Given the description of an element on the screen output the (x, y) to click on. 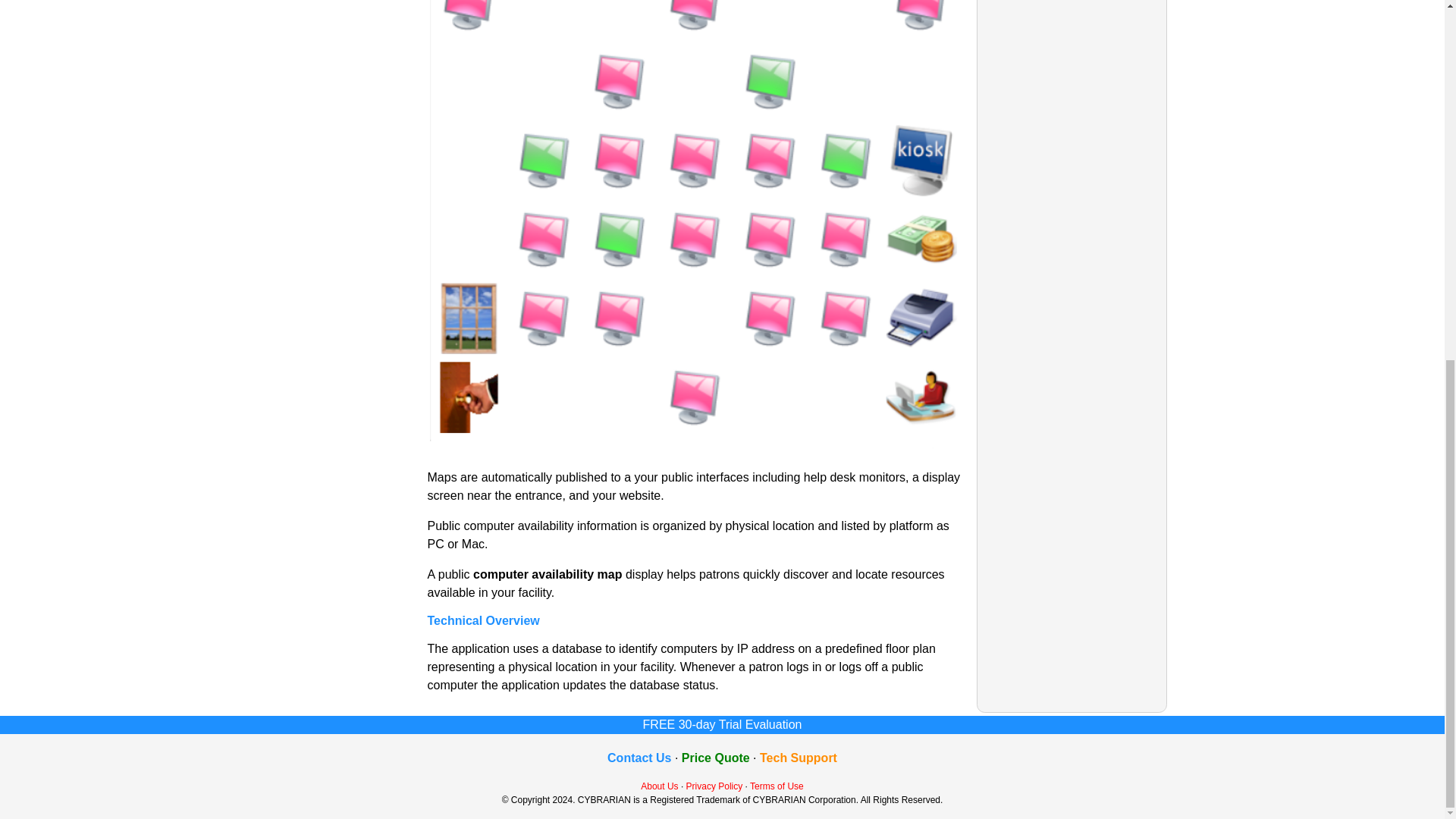
Privacy Policy (713, 786)
Price Quote (715, 757)
Tech Support (798, 757)
Terms of Use (776, 786)
Contact Us (639, 757)
About Us (659, 786)
